Given the description of an element on the screen output the (x, y) to click on. 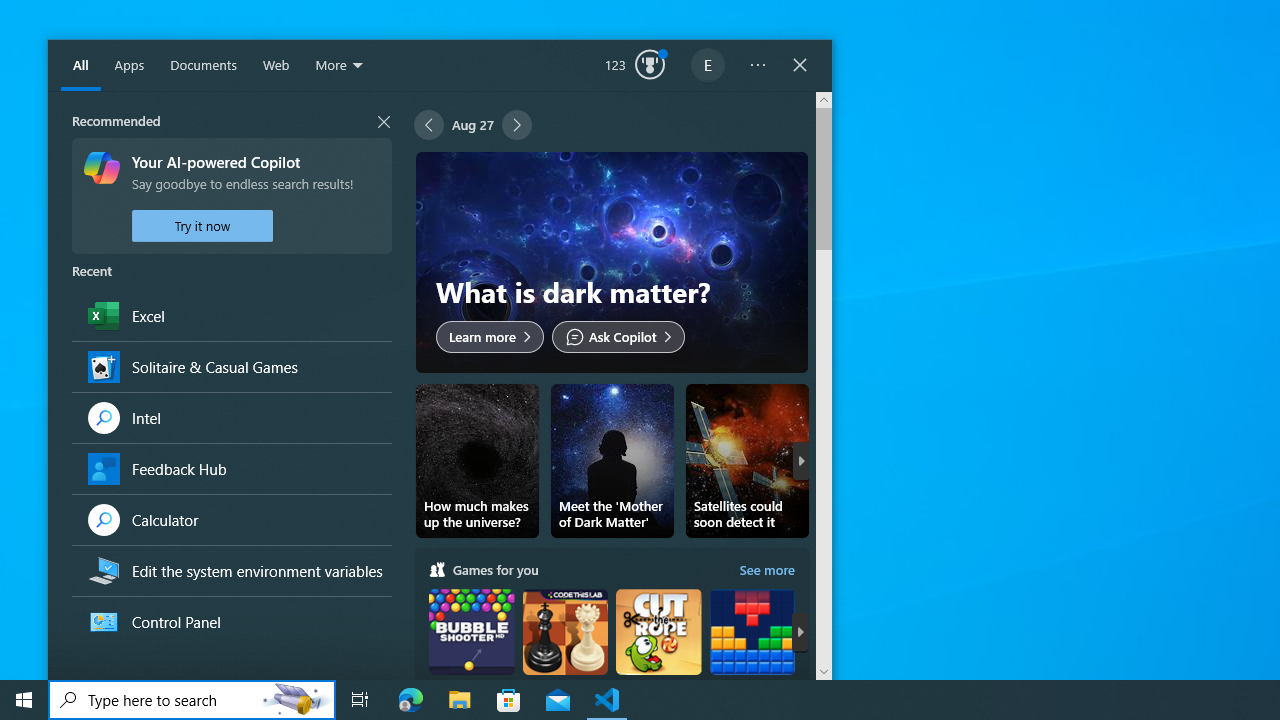
Master Chess (564, 650)
Control Panel, App (231, 621)
Search box (152, 699)
next (799, 631)
Search Highlights Icon (295, 699)
Edit the system environment variables, Control panel (231, 570)
